Given the description of an element on the screen output the (x, y) to click on. 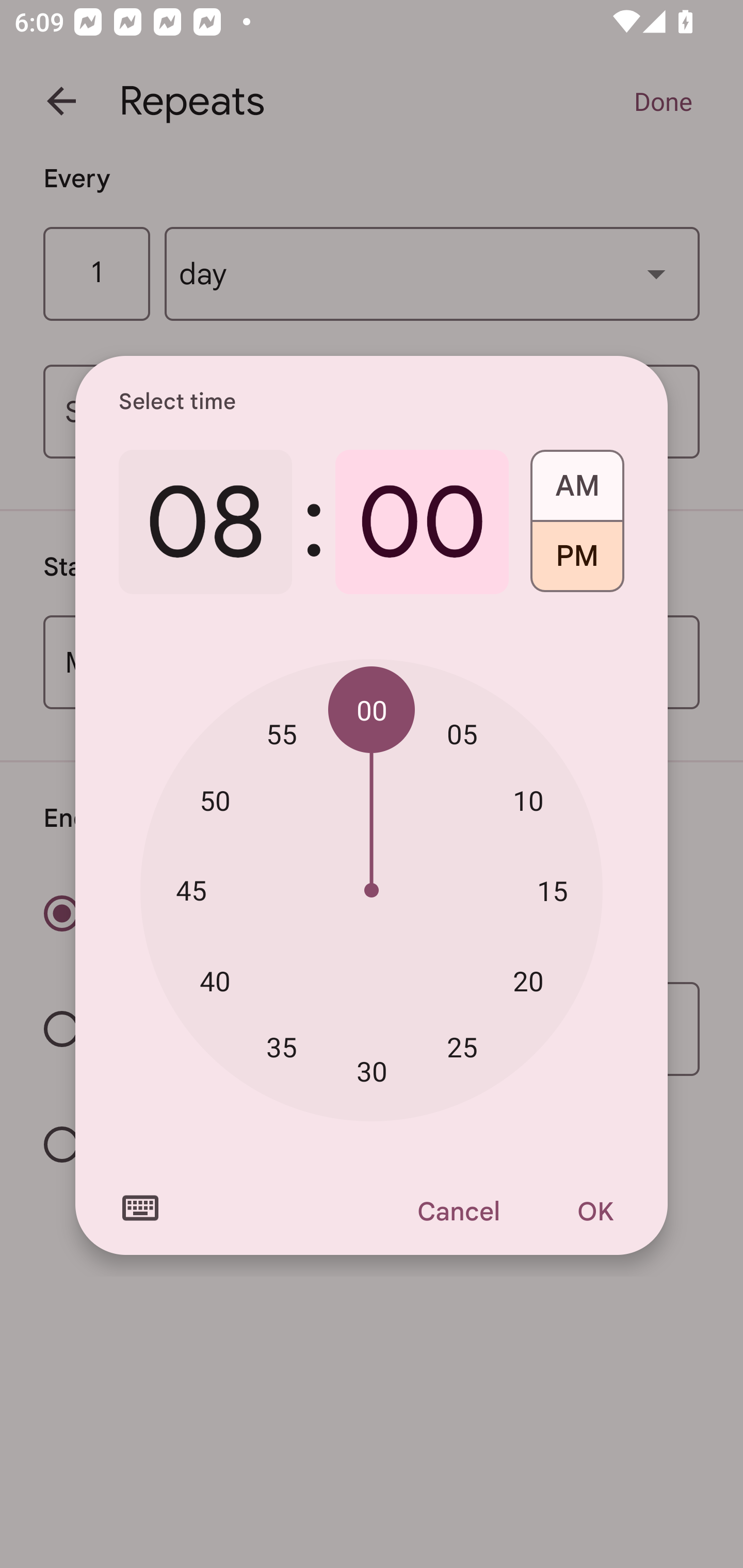
AM (577, 478)
08 8 o'clock (204, 522)
00 0 minutes (421, 522)
PM (577, 563)
00 00 minutes (371, 710)
55 55 minutes (281, 733)
05 05 minutes (462, 733)
50 50 minutes (214, 800)
10 10 minutes (528, 800)
45 45 minutes (190, 889)
15 15 minutes (551, 890)
40 40 minutes (214, 980)
20 20 minutes (528, 980)
35 35 minutes (281, 1046)
25 25 minutes (462, 1046)
30 30 minutes (371, 1071)
Switch to text input mode for the time input. (140, 1208)
Cancel (458, 1211)
OK (595, 1211)
